Given the description of an element on the screen output the (x, y) to click on. 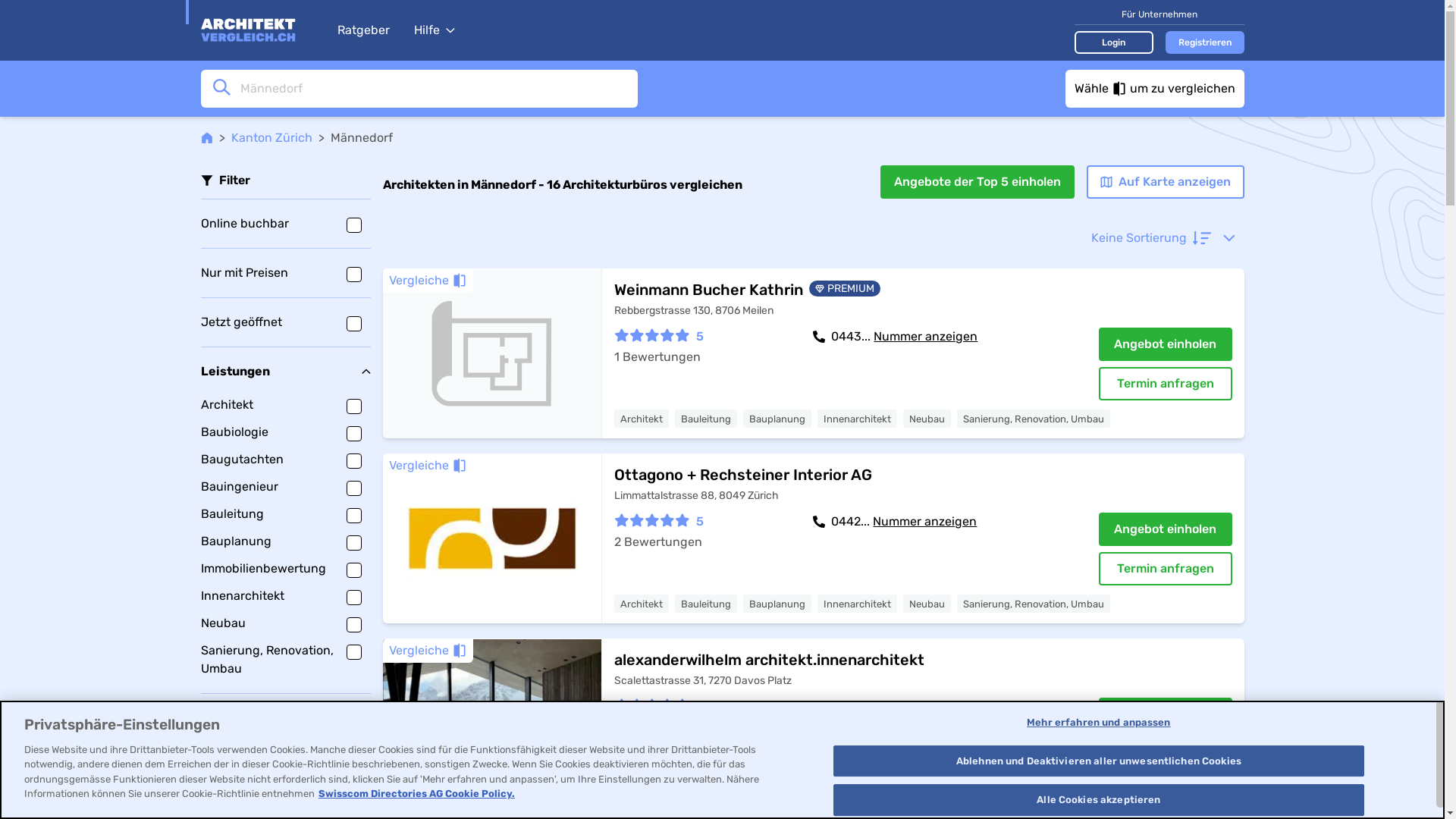
Login Element type: text (1112, 41)
Ratgeber Element type: text (362, 30)
Vergleiche Element type: text (427, 280)
Nur mit Preisen Element type: text (285, 272)
Termin anfragen Element type: text (1164, 753)
Termin anfragen Element type: text (1164, 568)
Angebot einholen Element type: text (1164, 529)
Angebot einholen Element type: text (1164, 343)
Registrieren Element type: text (1203, 41)
Vergleiche Element type: text (427, 465)
Online buchbar Element type: text (285, 223)
Vergleiche Element type: text (427, 650)
Angebot einholen Element type: text (1164, 714)
Angebote der Top 5 einholen Element type: text (976, 181)
Keine Sortierung Element type: text (1162, 237)
Auf Karte anzeigen Element type: text (1164, 181)
Termin anfragen Element type: text (1164, 383)
Hilfe Element type: text (434, 30)
Zur Startseite Element type: hover (260, 30)
